Given the description of an element on the screen output the (x, y) to click on. 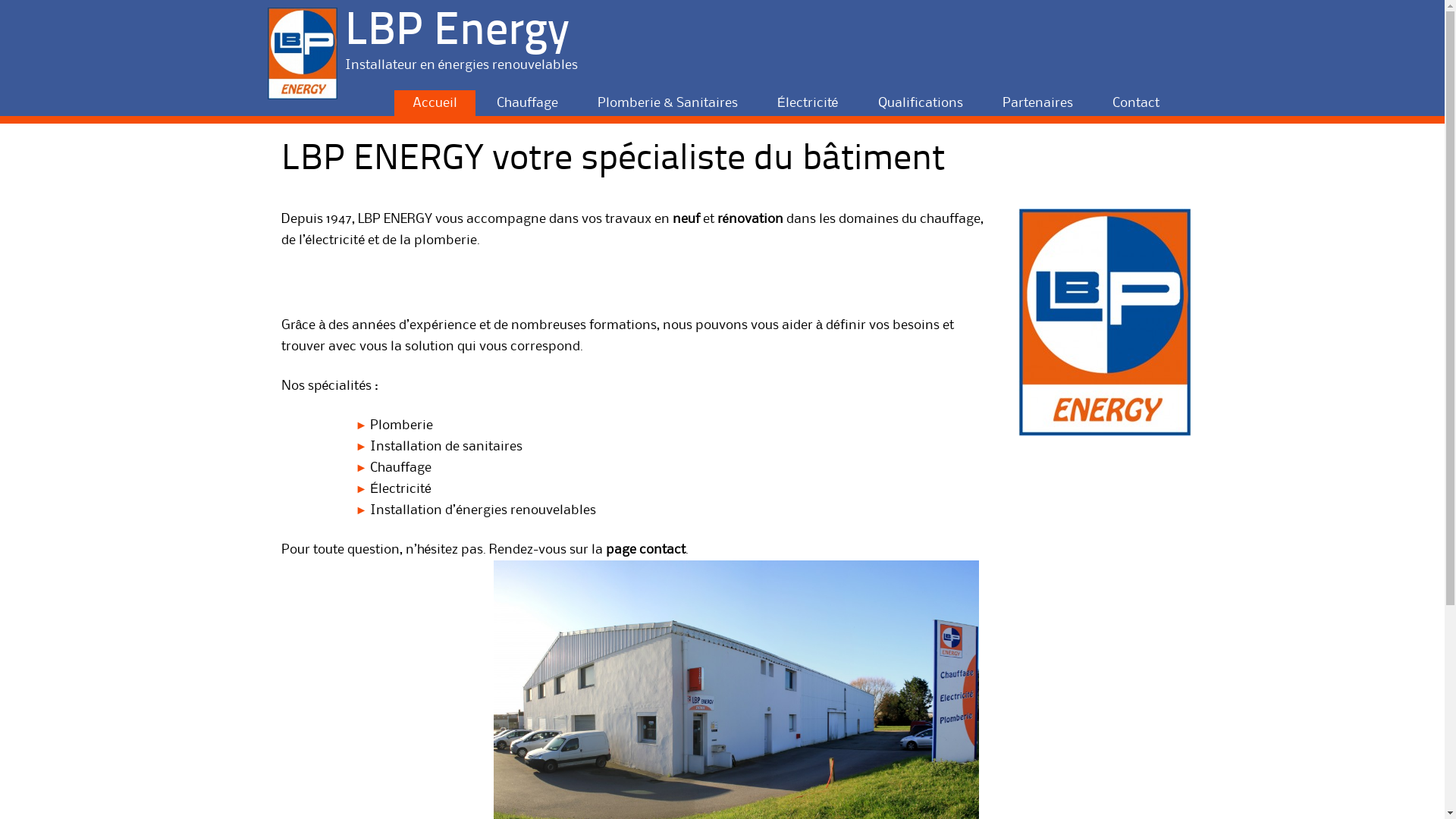
Accueil Element type: text (434, 103)
Plomberie & Sanitaires Element type: text (667, 103)
Plomberie Element type: text (401, 425)
Chauffage Element type: text (400, 467)
page contact Element type: text (645, 549)
Qualifications Element type: text (920, 103)
Contact Element type: text (1134, 103)
LBP Energy Element type: text (456, 32)
Installation de sanitaires Element type: text (446, 446)
Partenaires Element type: text (1037, 103)
Chauffage Element type: text (527, 103)
Skip to content Element type: text (421, 96)
Logo LBP Energy Element type: hover (1103, 322)
